Given the description of an element on the screen output the (x, y) to click on. 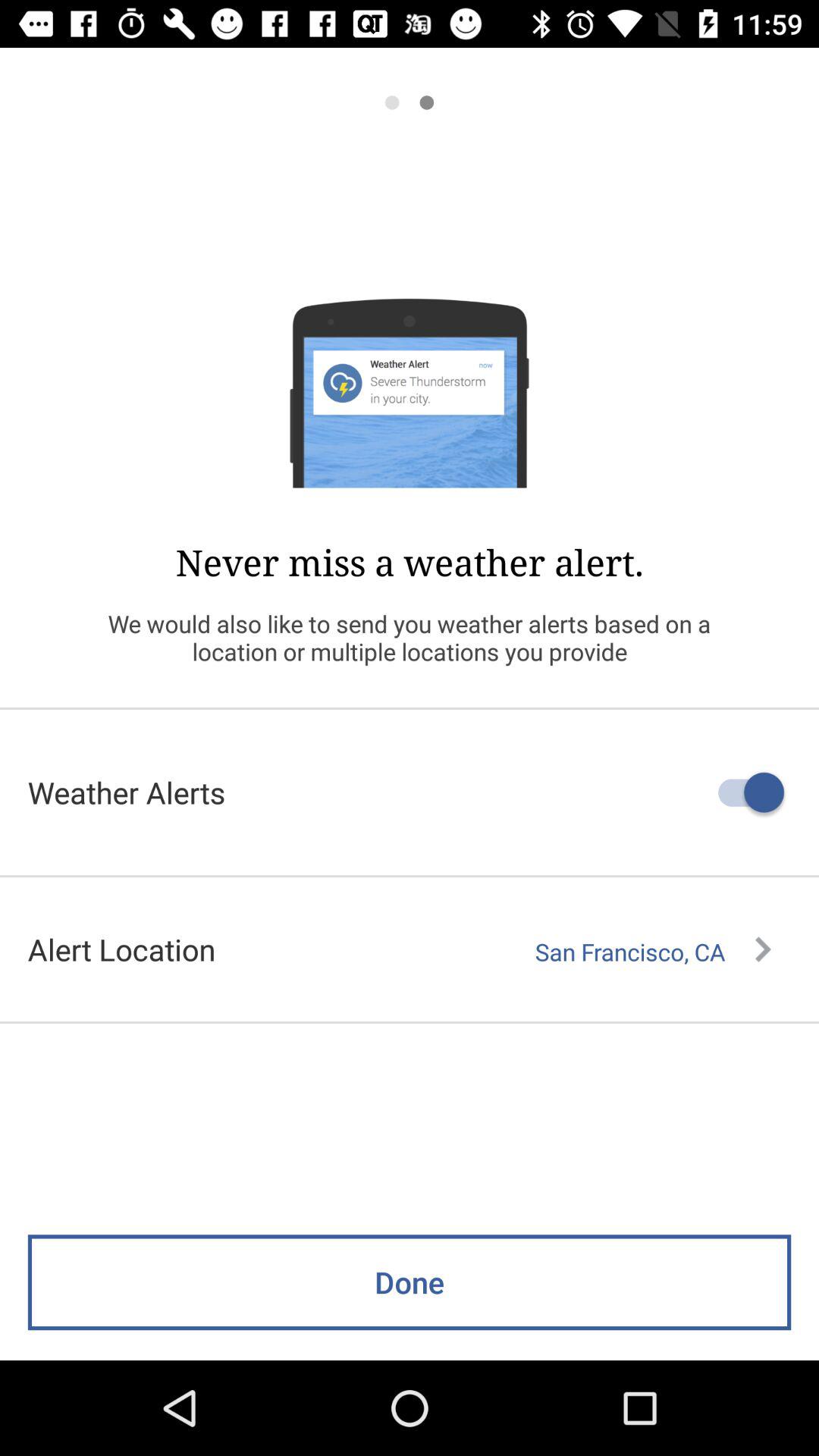
choose icon next to the alert location (653, 951)
